Given the description of an element on the screen output the (x, y) to click on. 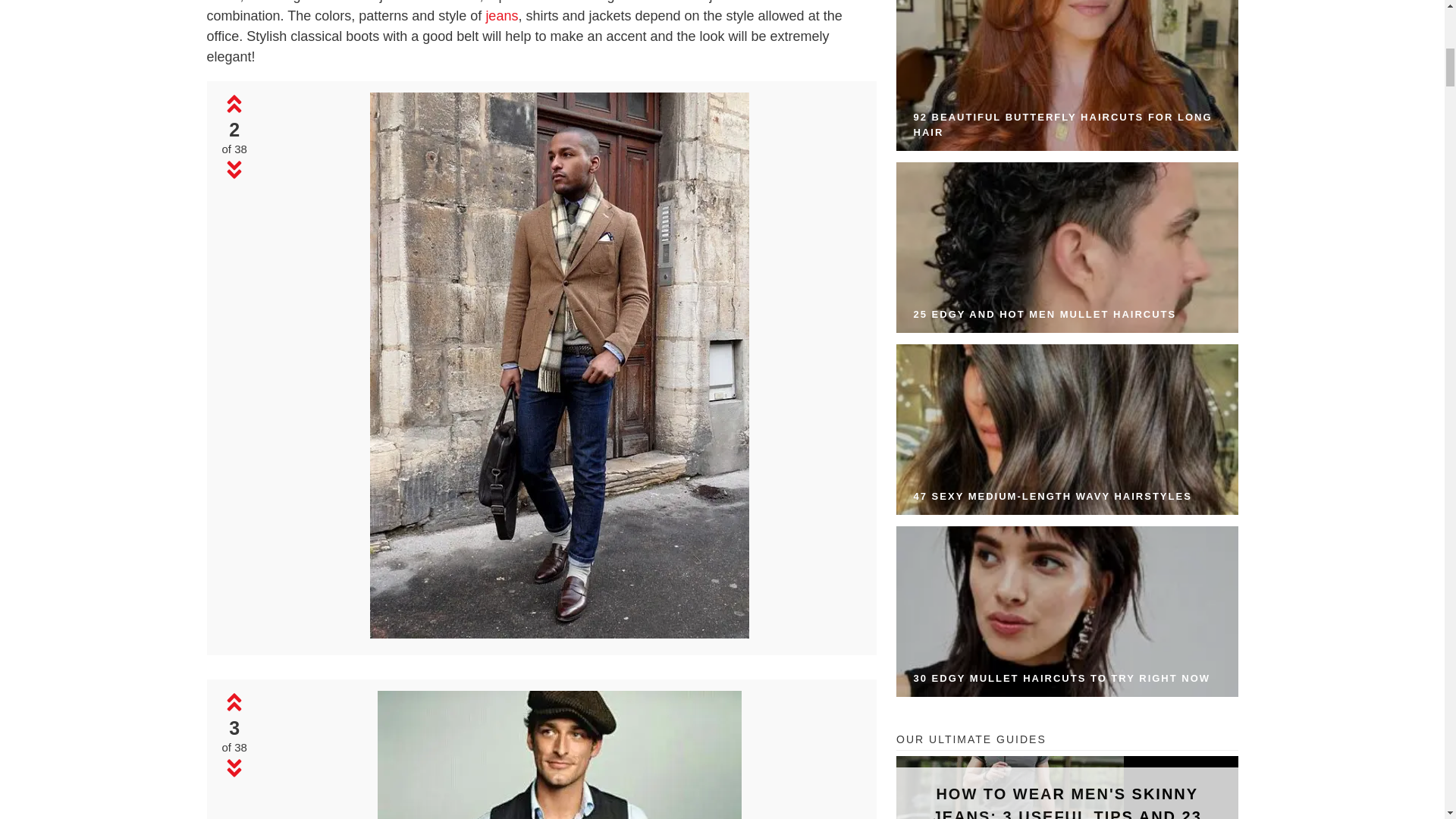
jeans (501, 15)
Stylish Men Looks With Jeans Suitable For Work (559, 634)
Stylish Men Looks With Jeans Suitable For Work (559, 755)
